Given the description of an element on the screen output the (x, y) to click on. 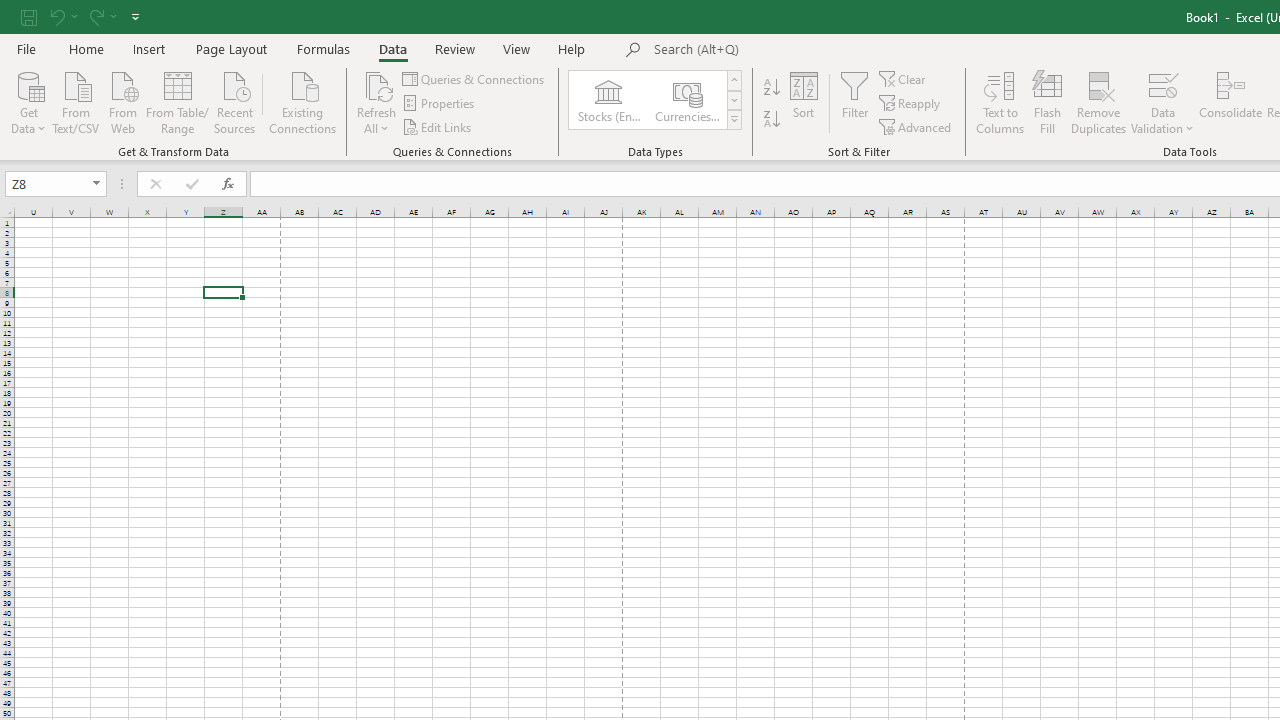
Microsoft search (792, 49)
From Text/CSV (75, 101)
Stocks (English) (608, 100)
Data (392, 48)
Flash Fill (1047, 102)
Customize Quick Access Toolbar (135, 15)
Open (96, 183)
Remove Duplicates (1098, 102)
Save (29, 15)
Edit Links (438, 126)
